Given the description of an element on the screen output the (x, y) to click on. 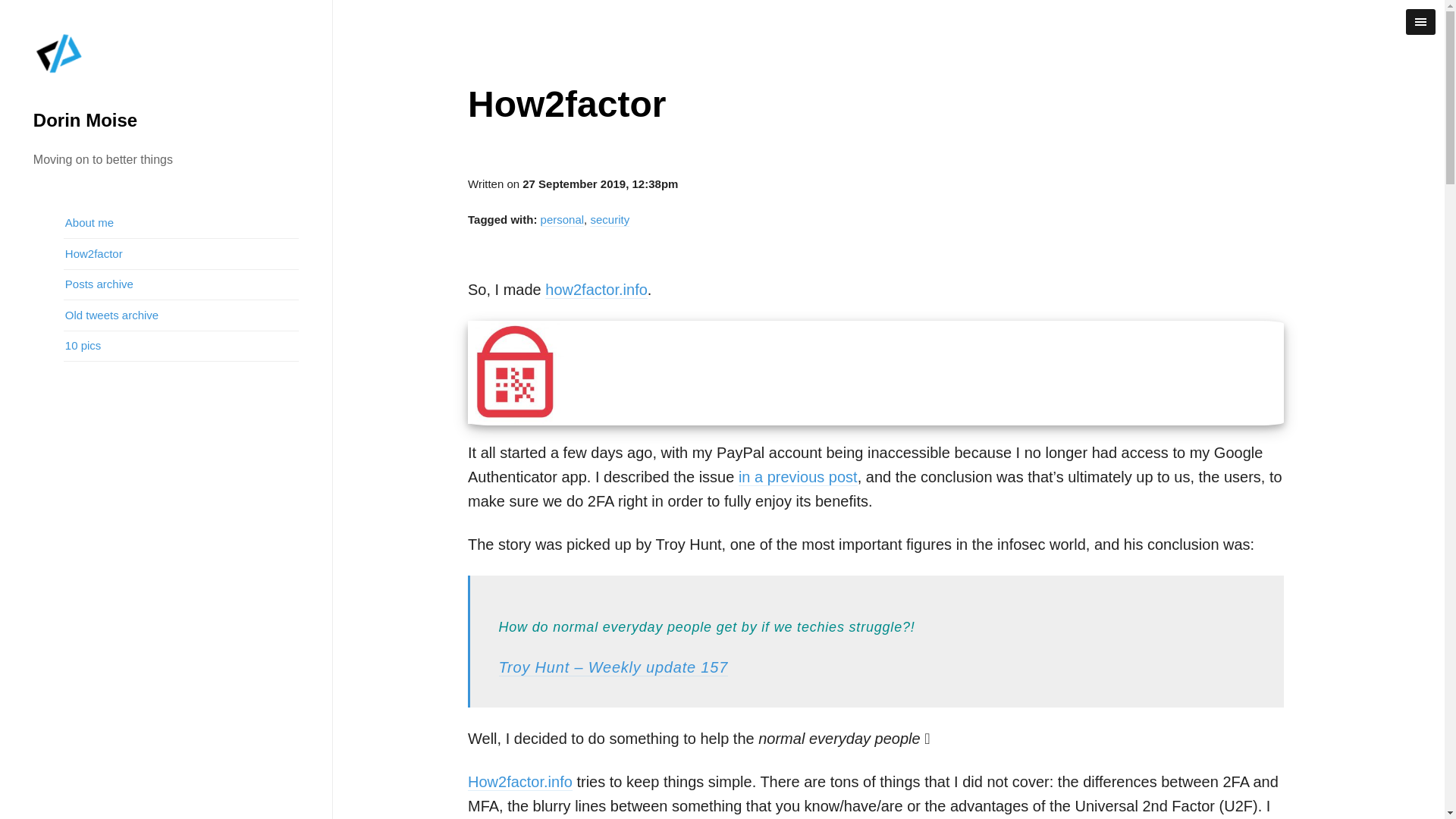
security (608, 219)
How2factor (181, 254)
Posts archive (181, 285)
How2factor.info (519, 782)
how2factor.info (595, 289)
in a previous post (797, 477)
About me (181, 223)
Who am I (181, 223)
10 pics (181, 346)
Dorin Moise (84, 119)
